Given the description of an element on the screen output the (x, y) to click on. 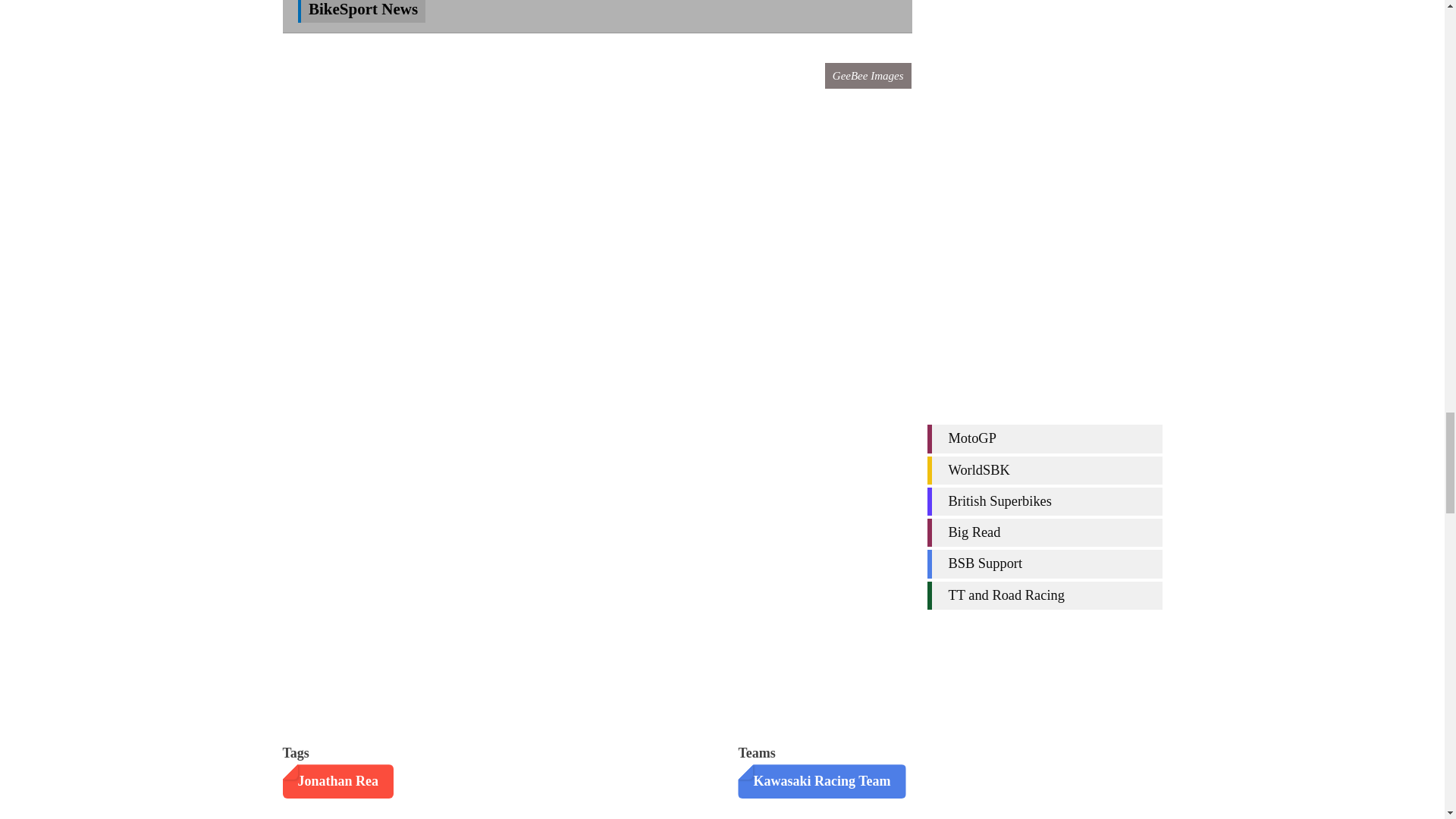
Kawasaki Racing Team (821, 781)
Jonathan Rea (337, 781)
GeeBee Images (868, 75)
